Given the description of an element on the screen output the (x, y) to click on. 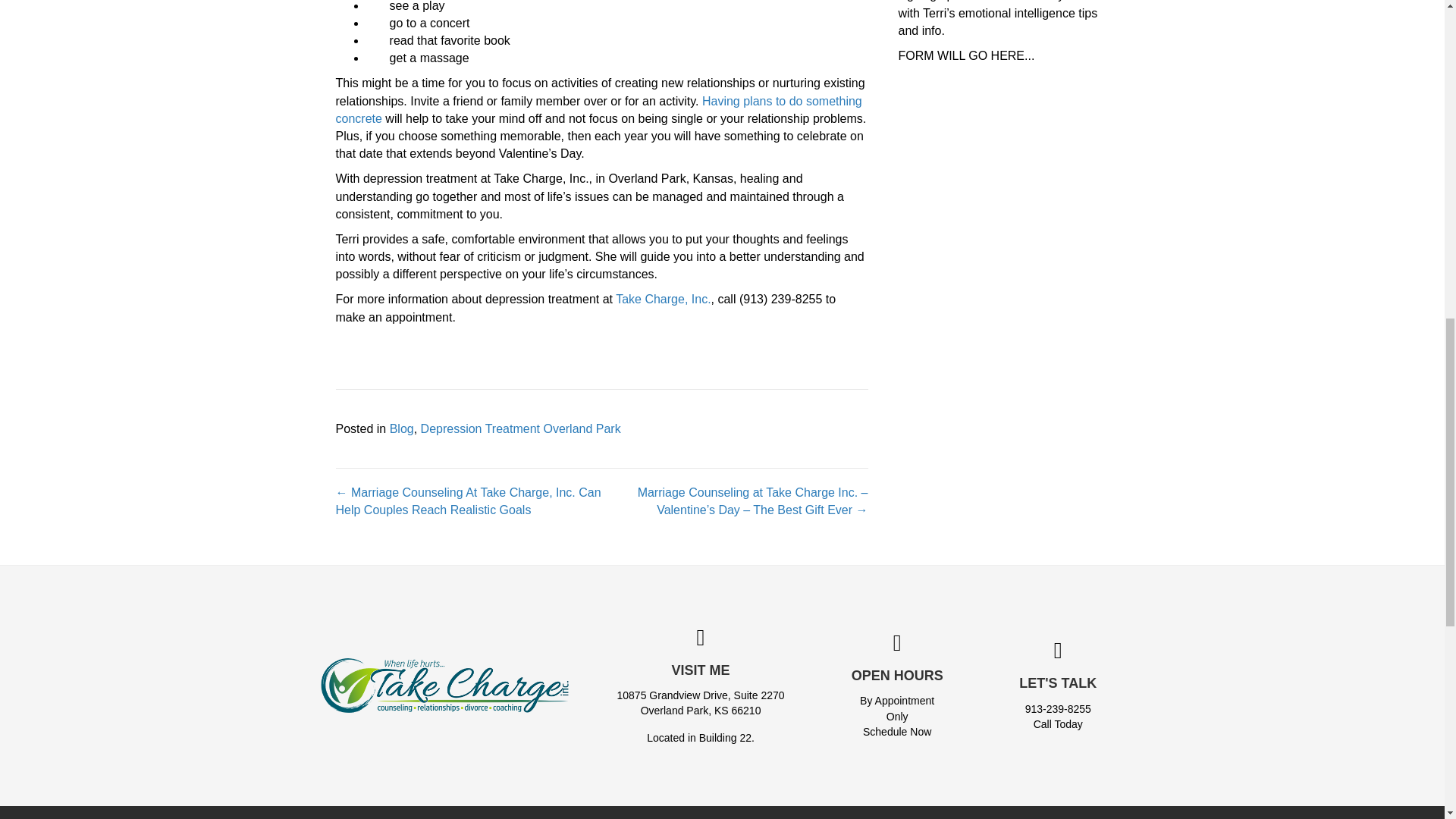
Take Charge, Inc. (662, 298)
Blog (401, 428)
Take-Charge-Inc (443, 685)
Depression Treatment Overland Park (520, 428)
Having plans to do something concrete (597, 110)
